Given the description of an element on the screen output the (x, y) to click on. 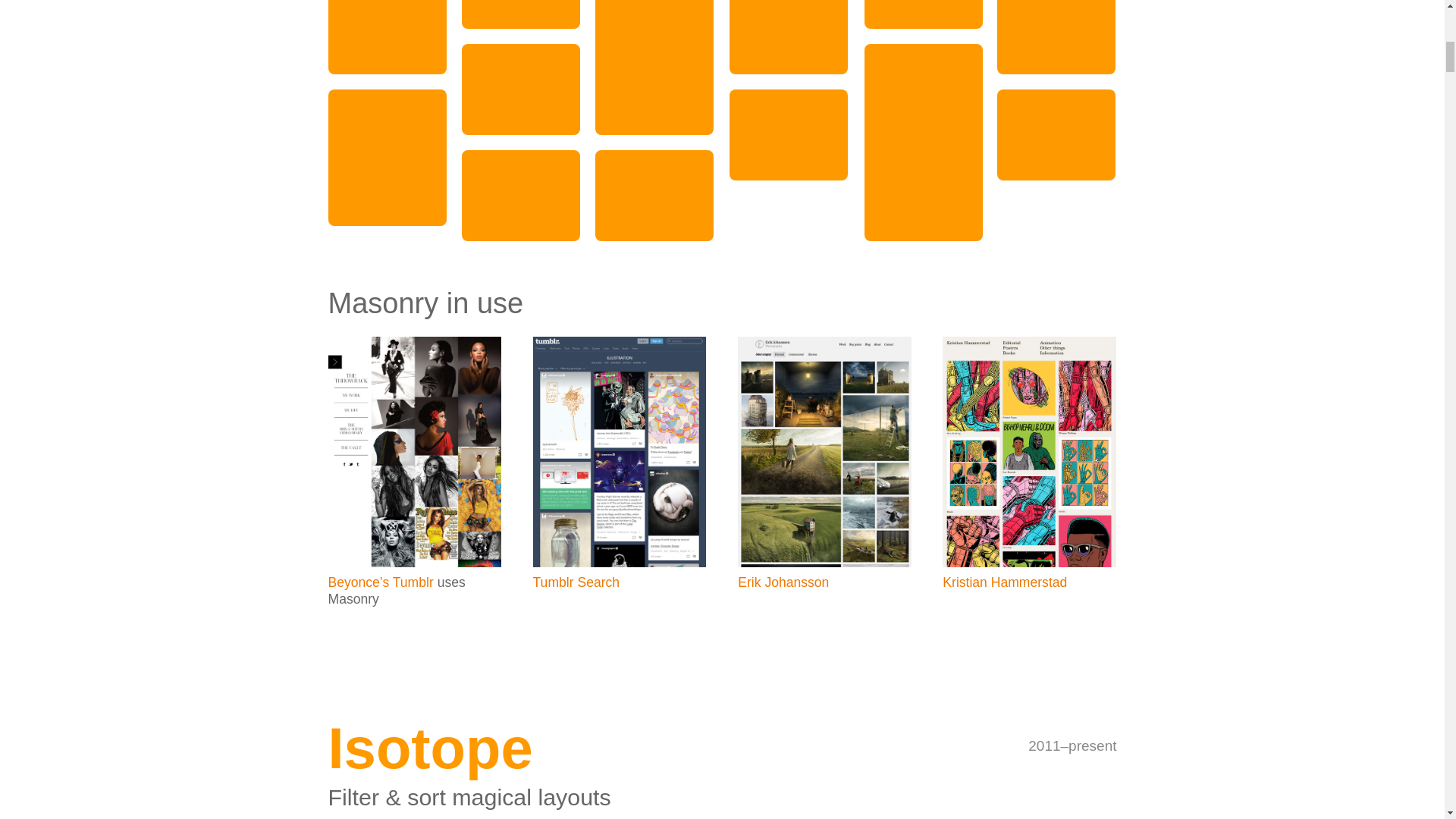
Tumblr Search (576, 581)
Erik Johansson (783, 581)
Isotope (429, 747)
Kristian Hammerstad (1004, 581)
